Given the description of an element on the screen output the (x, y) to click on. 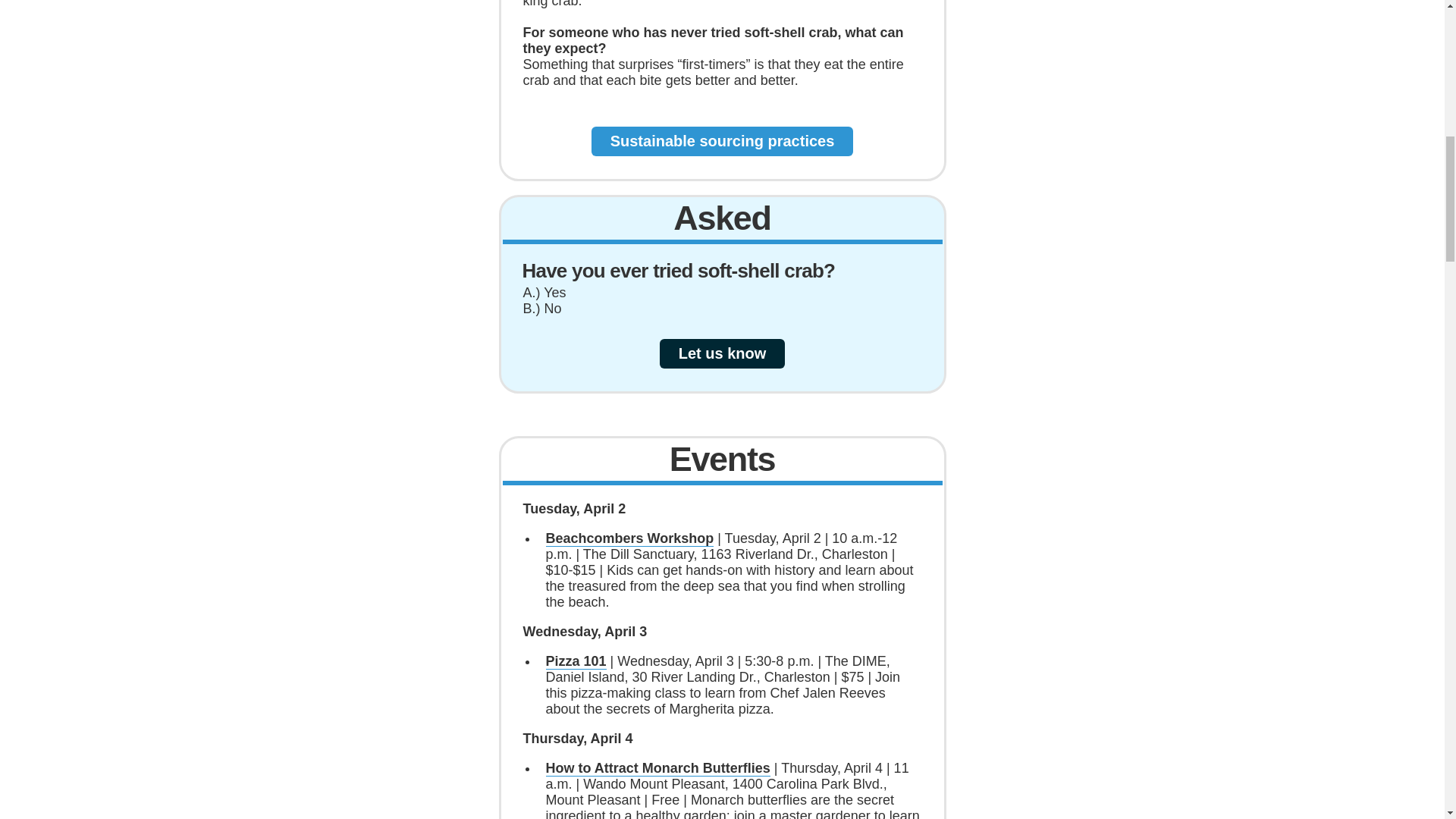
Have you ever tried soft-shell crab? (677, 270)
Beachcombers Workshop (630, 538)
Pizza 101 (576, 661)
Sustainable sourcing practices (722, 140)
Events (721, 458)
How to Attract Monarch Butterflies (658, 768)
Let us know (722, 352)
Asked (721, 218)
